Given the description of an element on the screen output the (x, y) to click on. 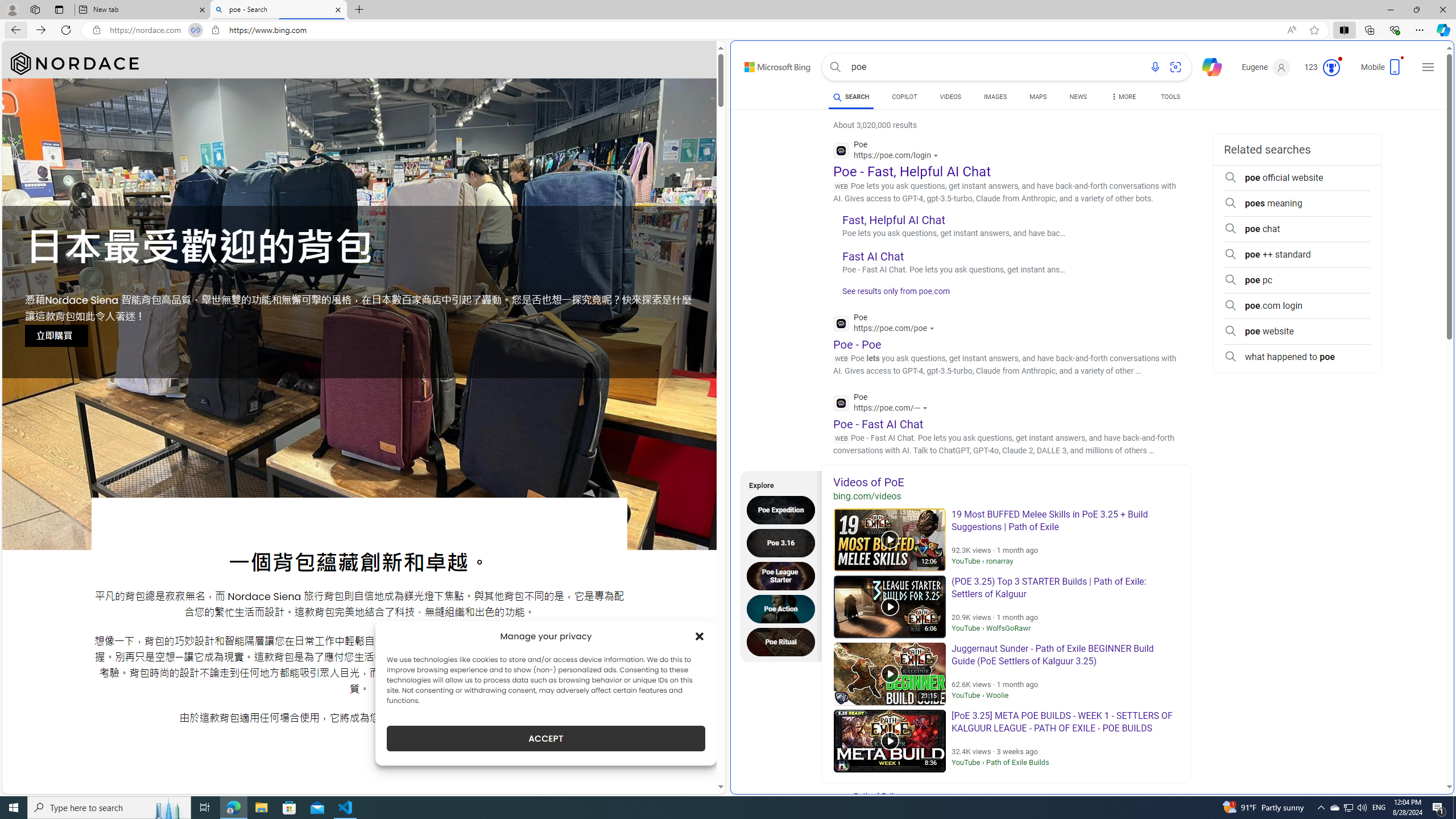
Microsoft Rewards 123 (1323, 67)
SEARCH (850, 96)
poe pc (1297, 280)
Poe (882, 403)
VIDEOS (950, 96)
Search more (1423, 753)
See results only from poe.com (891, 294)
Poe - Fast AI Chat (877, 423)
Poe Expedition (783, 509)
Fast, Helpful AI Chat (893, 219)
MAPS (1038, 98)
